Given the description of an element on the screen output the (x, y) to click on. 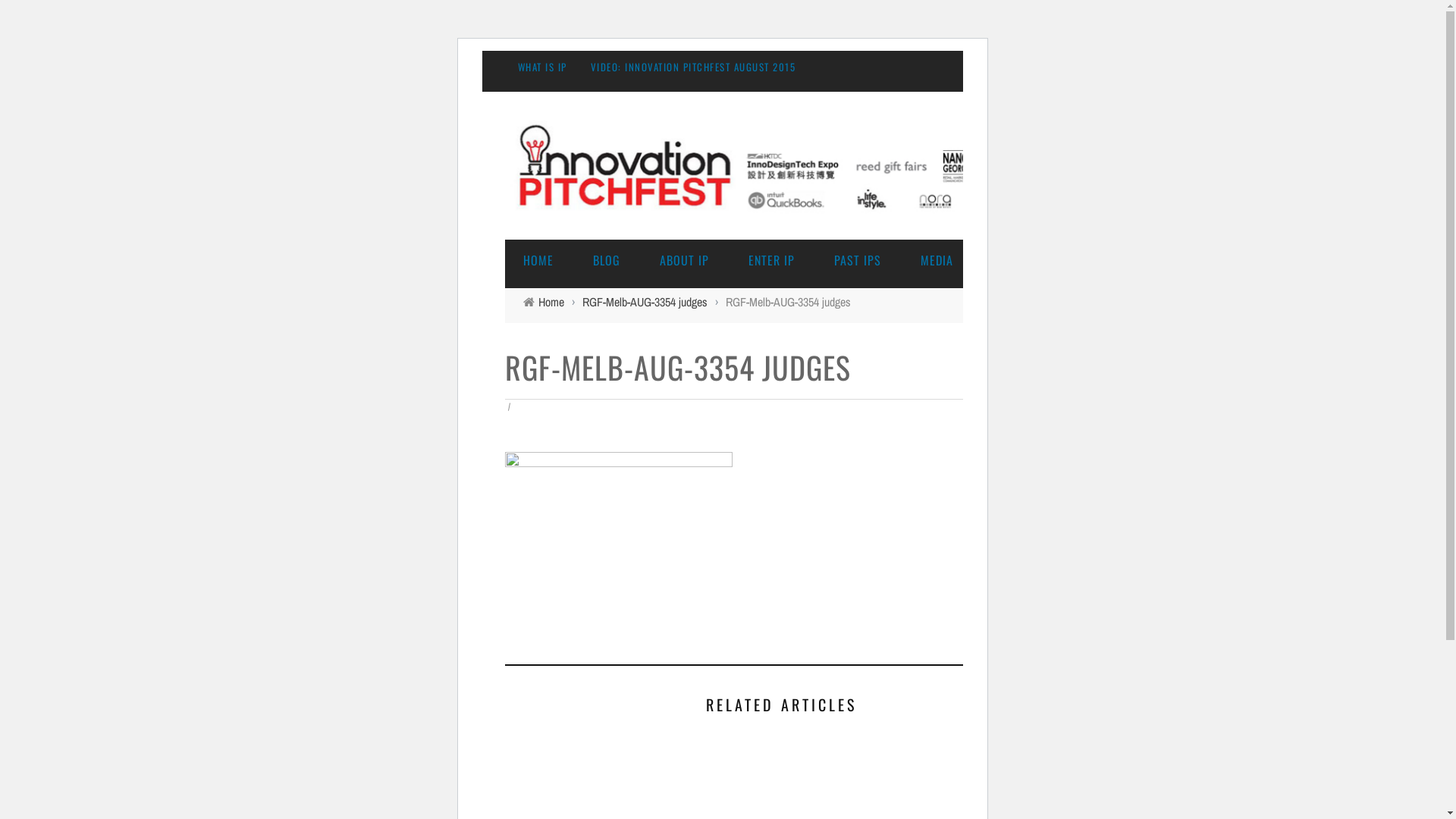
VIDEO: INNOVATION PITCHFEST AUGUST 2015 Element type: text (693, 66)
Home Element type: text (551, 301)
RGF-Melb-AUG-3354 judges Element type: text (644, 301)
PAST IPS Element type: text (857, 260)
ABOUT IP Element type: text (684, 260)
WHAT IS IP Element type: text (541, 66)
ENTER IP Element type: text (770, 260)
BLOG Element type: text (606, 260)
MEDIA Element type: text (936, 260)
HOME Element type: text (538, 260)
